Given the description of an element on the screen output the (x, y) to click on. 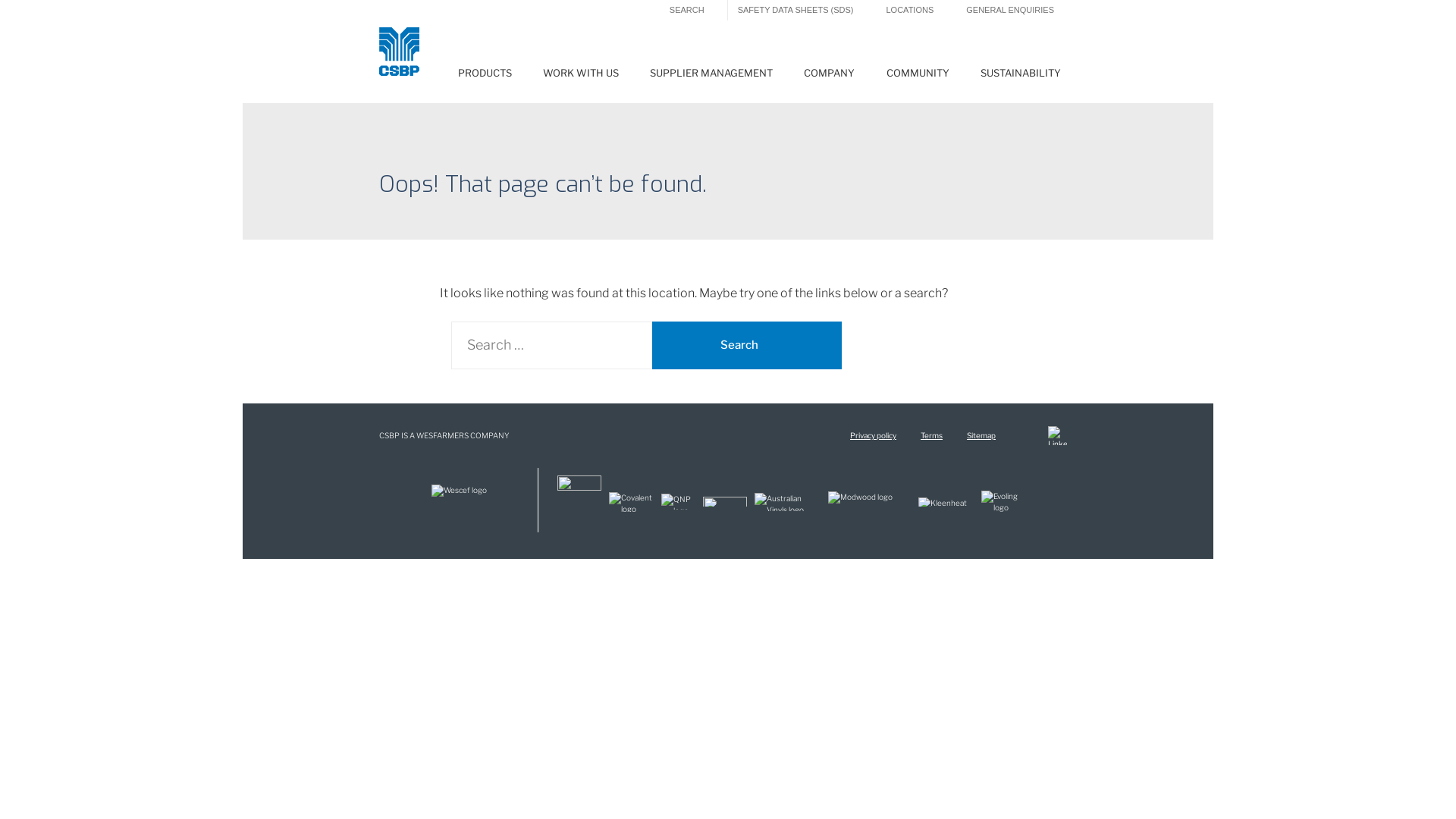
Privacy policy Element type: text (873, 435)
WORK WITH US Element type: text (580, 76)
LOCATIONS Element type: text (909, 10)
SUSTAINABILITY Element type: text (1020, 76)
COMMUNITY Element type: text (917, 76)
Search Element type: text (746, 345)
SEARCH Element type: text (687, 10)
Terms Element type: text (931, 435)
SAFETY DATA SHEETS (SDS) Element type: text (795, 10)
GENERAL ENQUIRIES Element type: text (1009, 10)
SUPPLIER MANAGEMENT Element type: text (710, 76)
Sitemap Element type: text (980, 435)
COMPANY Element type: text (828, 76)
PRODUCTS Element type: text (484, 76)
